Given the description of an element on the screen output the (x, y) to click on. 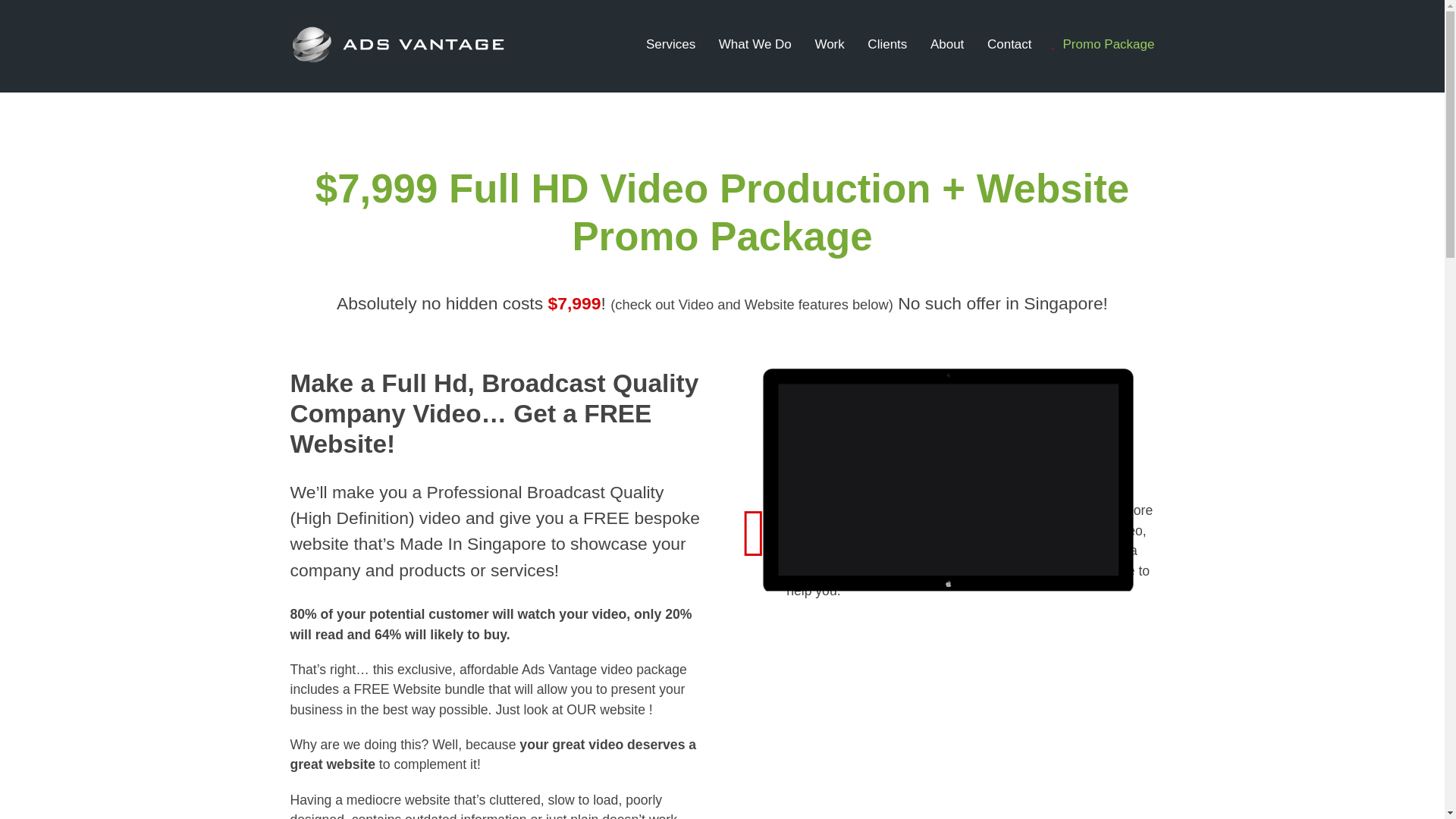
What We Do (755, 43)
Contact (1009, 43)
Services (670, 43)
Clients (887, 43)
Promo Package (1104, 43)
About (946, 43)
Work (828, 43)
